Given the description of an element on the screen output the (x, y) to click on. 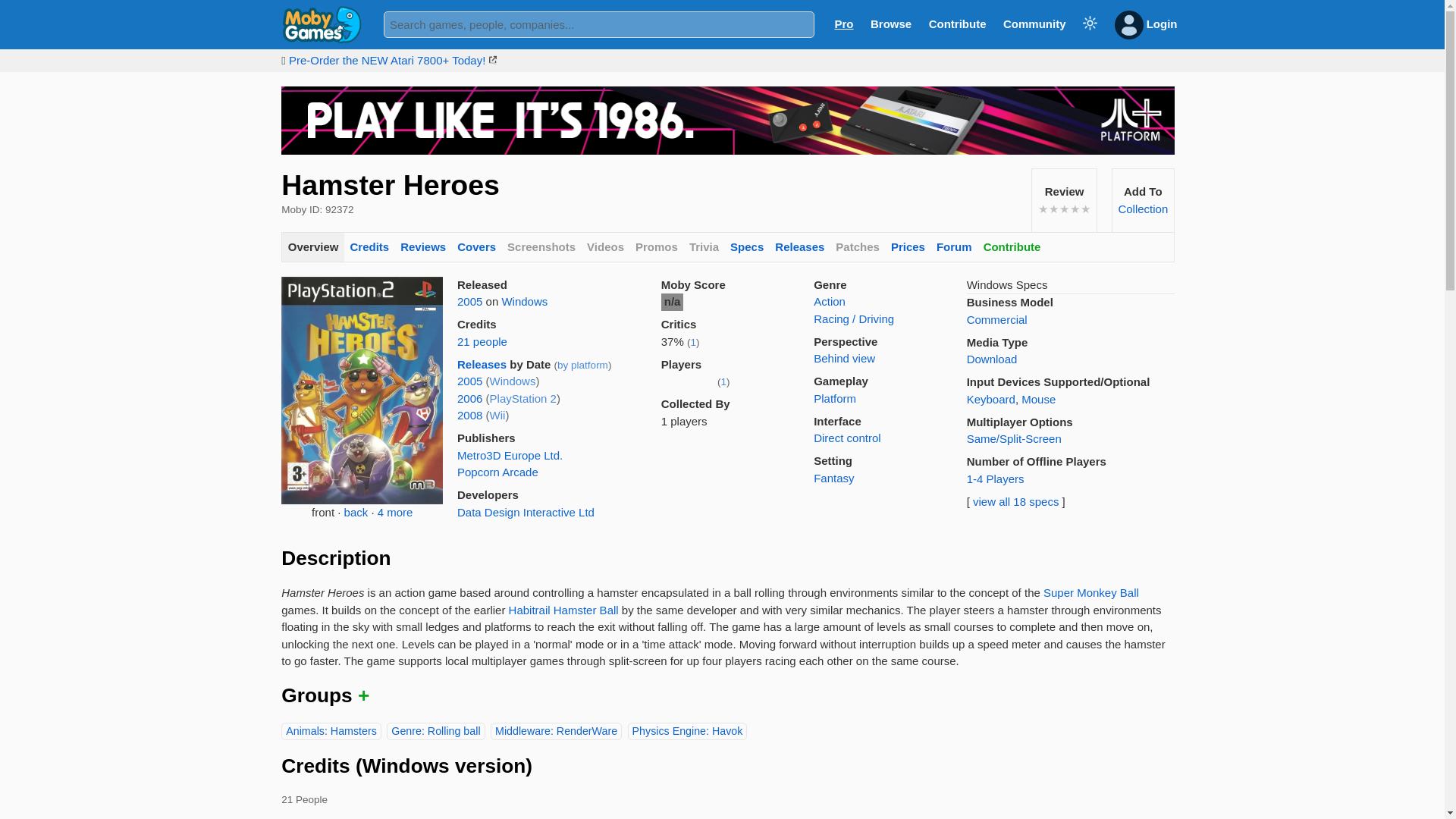
Credits (368, 247)
Covers (476, 247)
Collection (1142, 208)
Overview (312, 247)
Reviews (422, 247)
Pro (843, 23)
